Given the description of an element on the screen output the (x, y) to click on. 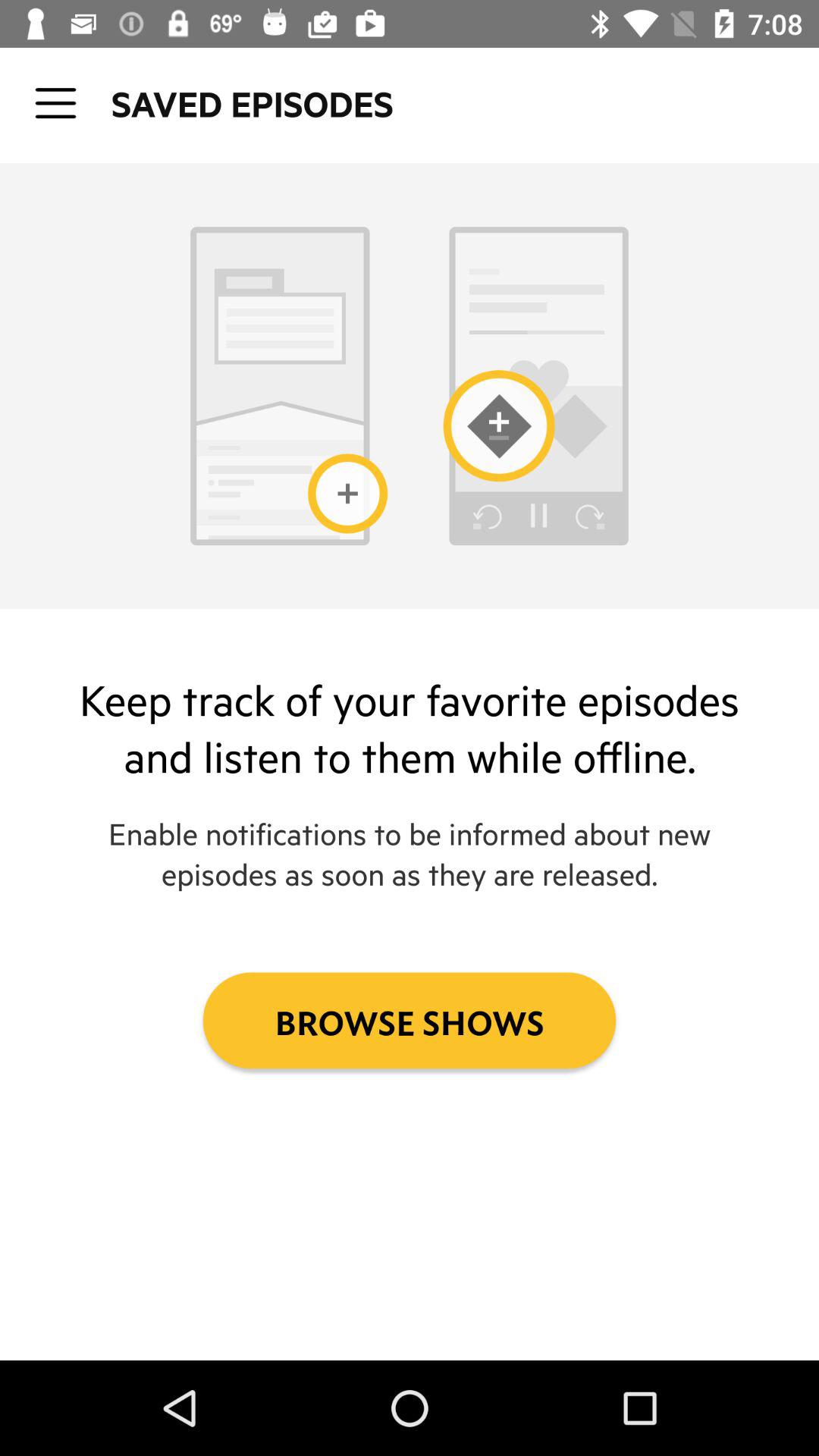
open up tab (55, 103)
